Given the description of an element on the screen output the (x, y) to click on. 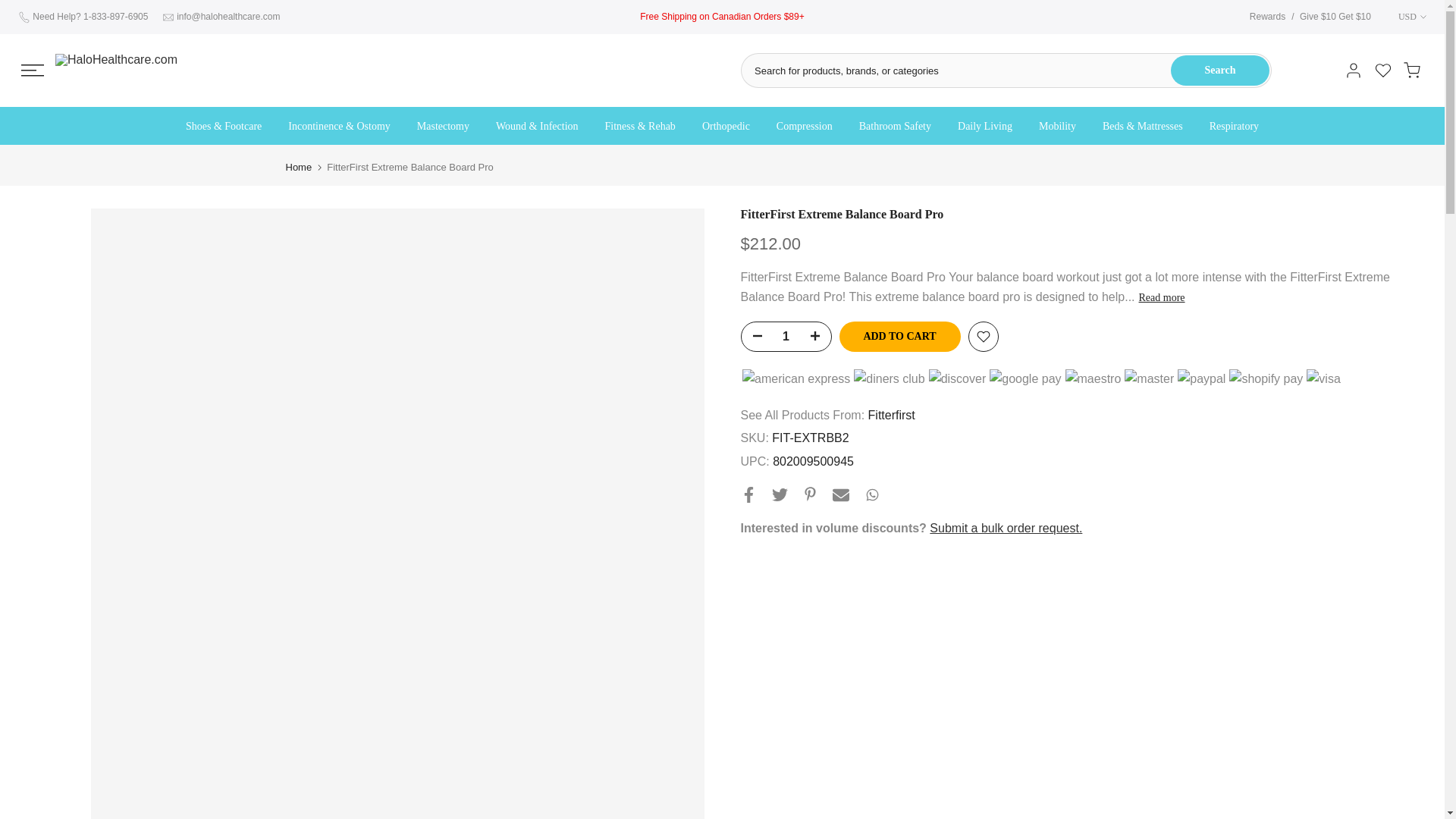
Need Help? 1-833-897-6905 (90, 16)
Share on Pinterest (809, 493)
Rewards (1267, 16)
1 (786, 336)
Share on WhatsApp (872, 494)
Orthopedic (725, 126)
Daily Living (985, 126)
Search (1219, 70)
USD (1403, 16)
Share on Facebook (747, 494)
Mobility (1057, 126)
Share on Twitter (779, 494)
Skip to content (10, 7)
Compression (803, 126)
Share on Email (840, 494)
